Given the description of an element on the screen output the (x, y) to click on. 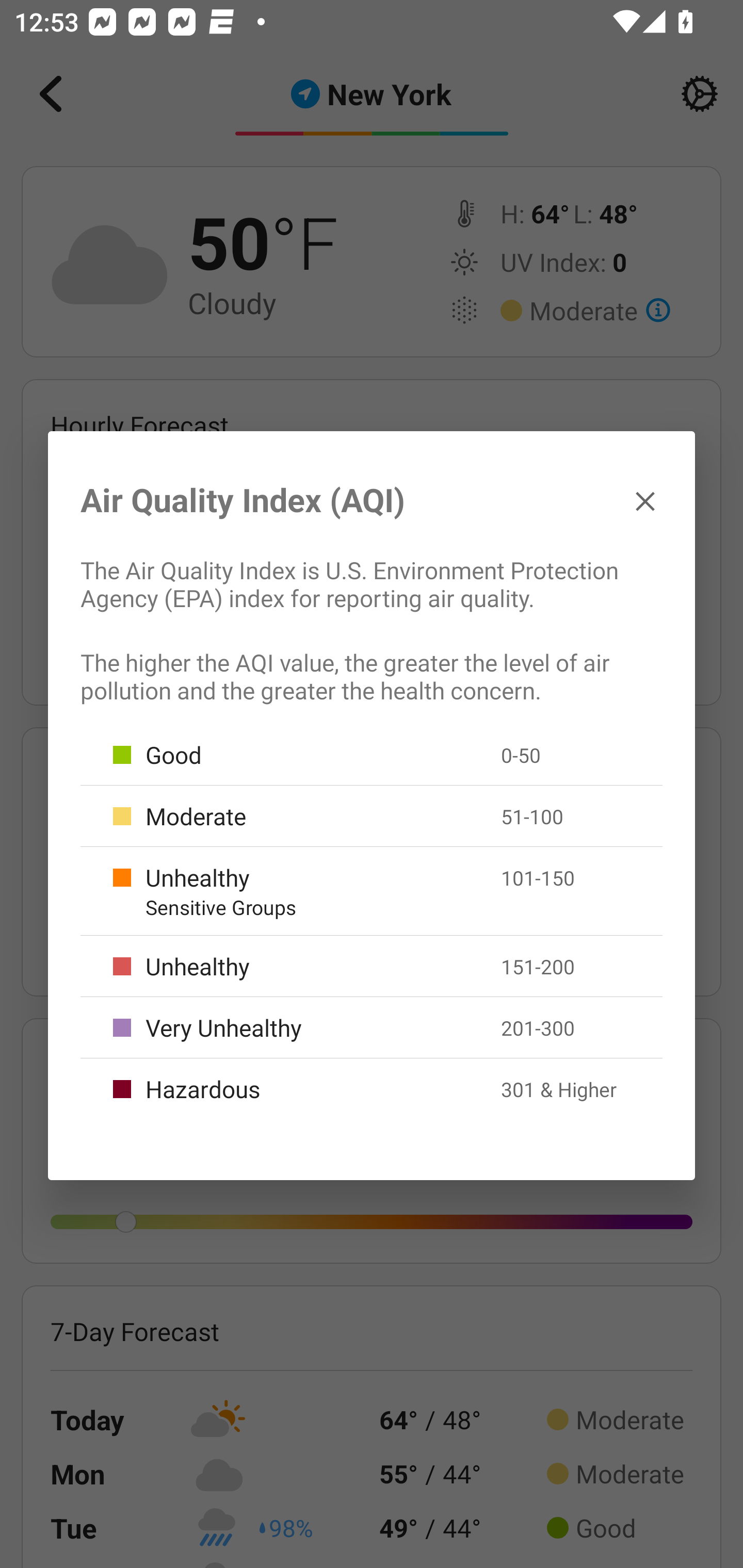
✕ (644, 499)
